Given the description of an element on the screen output the (x, y) to click on. 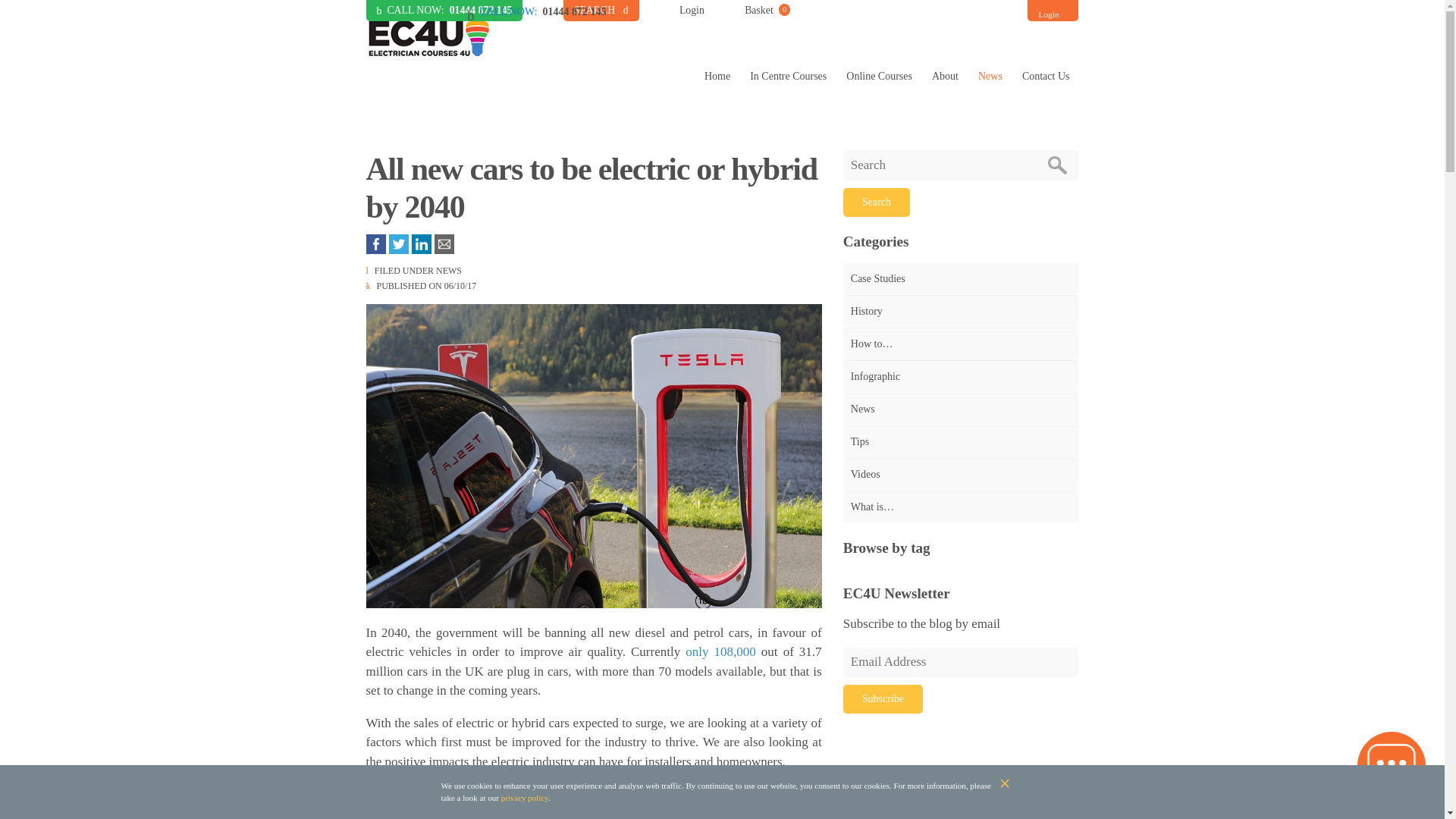
In Centre Courses (788, 75)
News (990, 75)
Login (691, 10)
About (944, 75)
Electrician Courses (427, 35)
Online Courses (767, 10)
Login (878, 75)
01444 872 145 (1048, 14)
Home (480, 9)
